Given the description of an element on the screen output the (x, y) to click on. 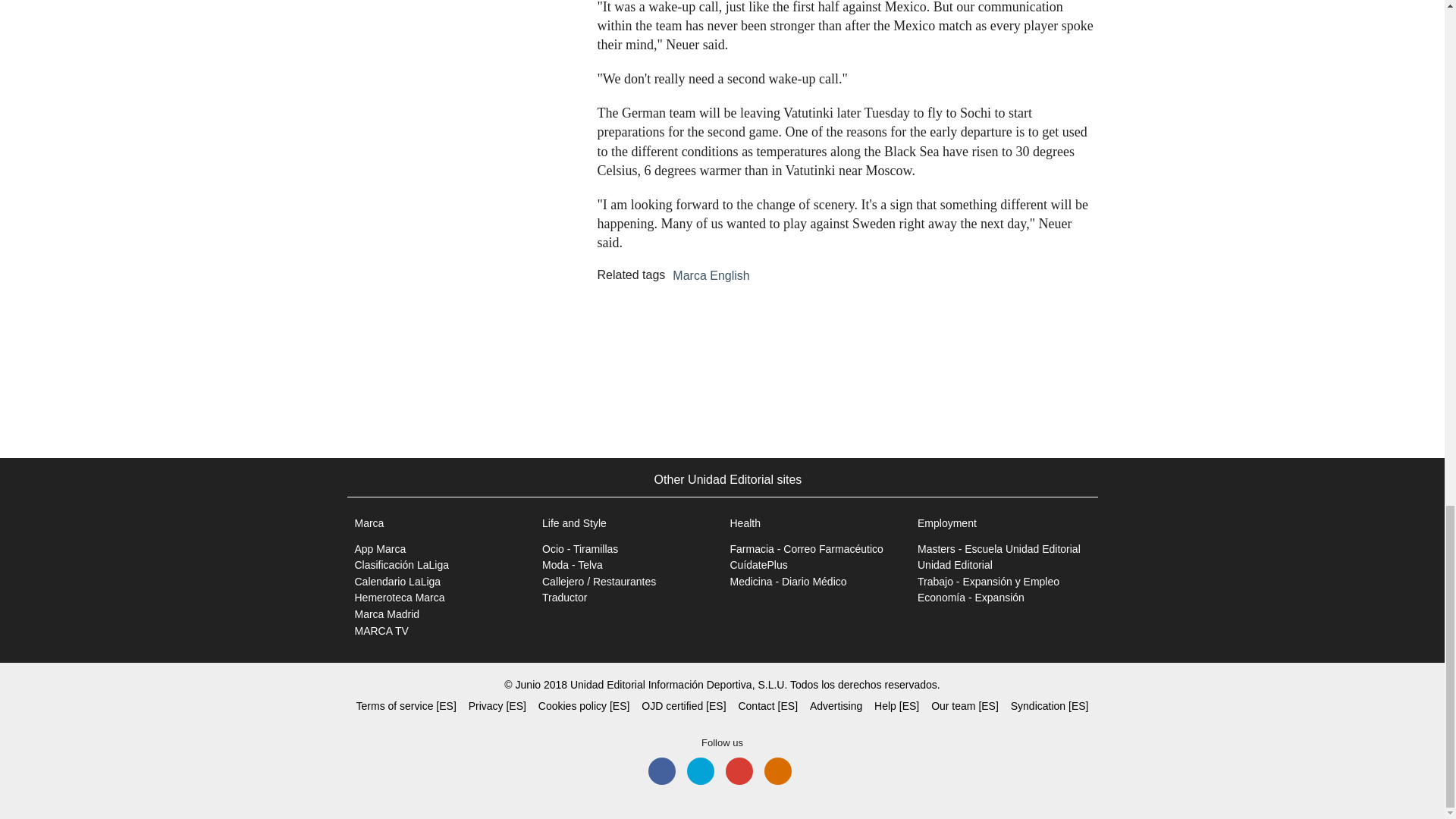
App Marca (380, 548)
Unidad Editorial (954, 564)
Masters - Escuela Unidad Editorial (998, 548)
Traductor (563, 597)
Marca English (710, 276)
Calendario LaLiga (398, 581)
Hemeroteca Marca (400, 597)
Hemeroteca Marca (400, 597)
Ocio - Tiramillas (579, 548)
App Marca (380, 548)
Marca Madrid (387, 613)
Calendario LaLiga (398, 581)
Moda - Telva (571, 564)
MARCA TV (382, 630)
